Given the description of an element on the screen output the (x, y) to click on. 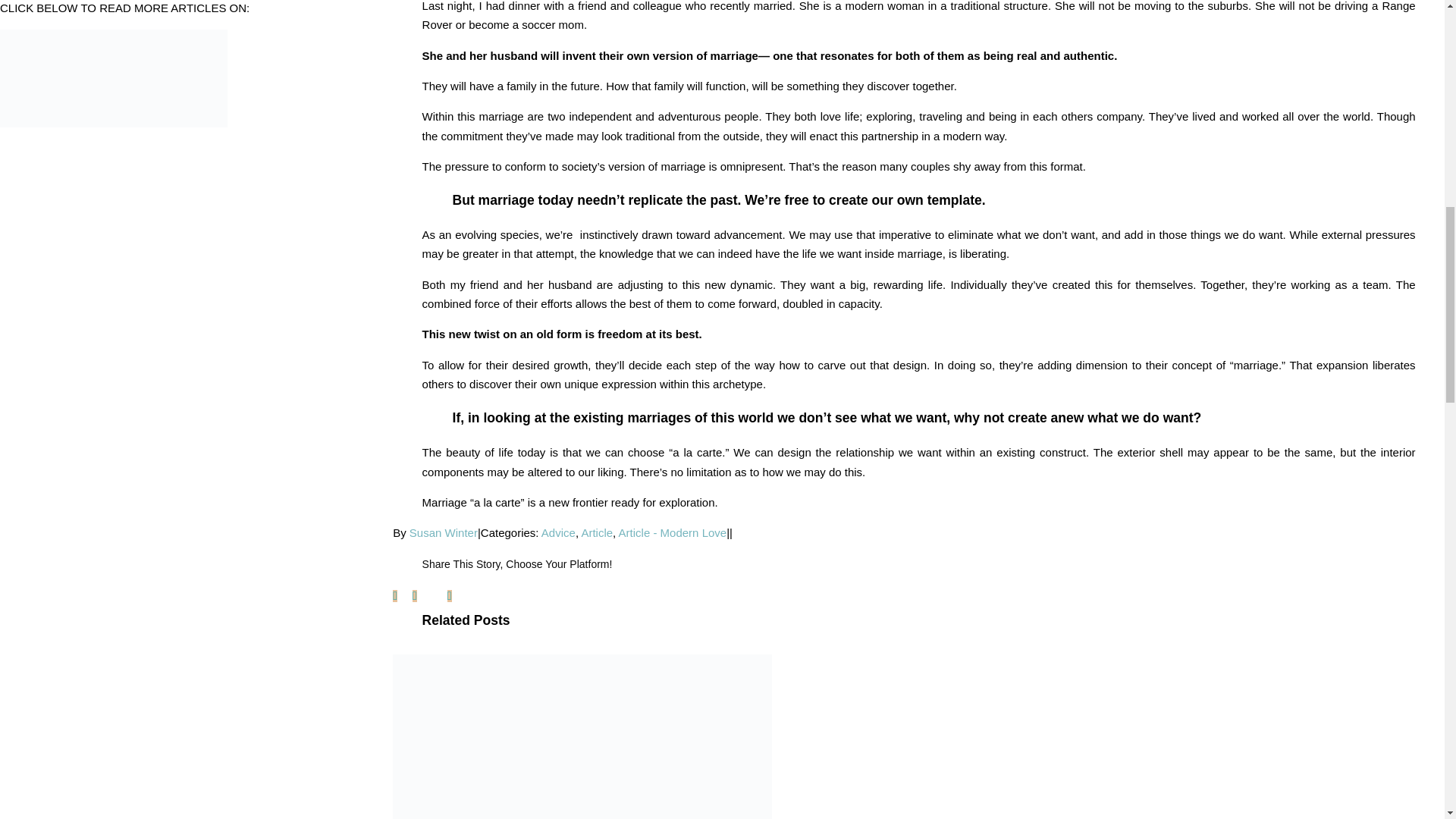
Article (596, 532)
Advice (558, 532)
Article - Modern Love (672, 532)
Susan Winter (443, 532)
Posts by Susan Winter (443, 532)
